Given the description of an element on the screen output the (x, y) to click on. 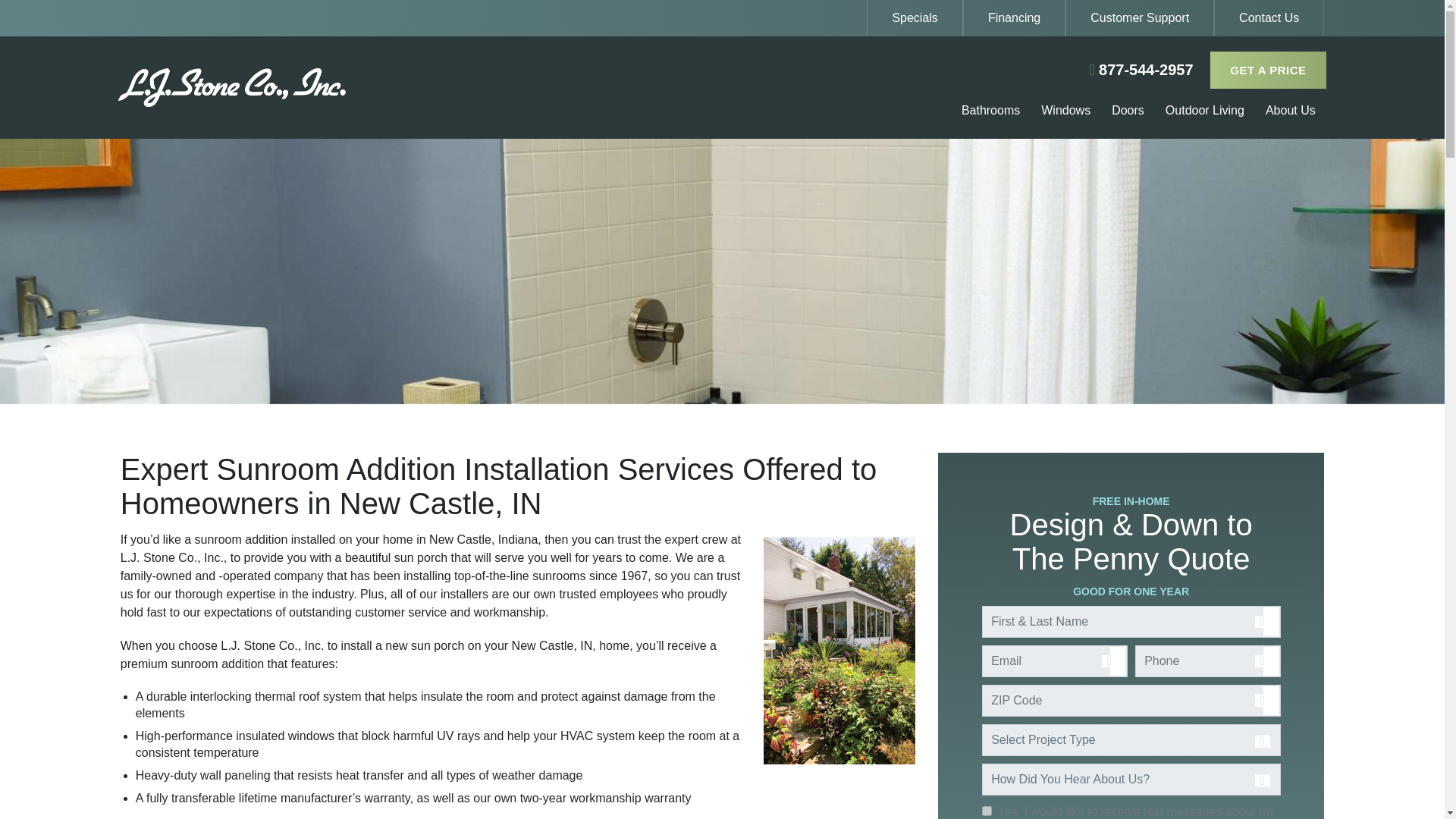
L. J.  Stone Company, Inc. (319, 87)
